Given the description of an element on the screen output the (x, y) to click on. 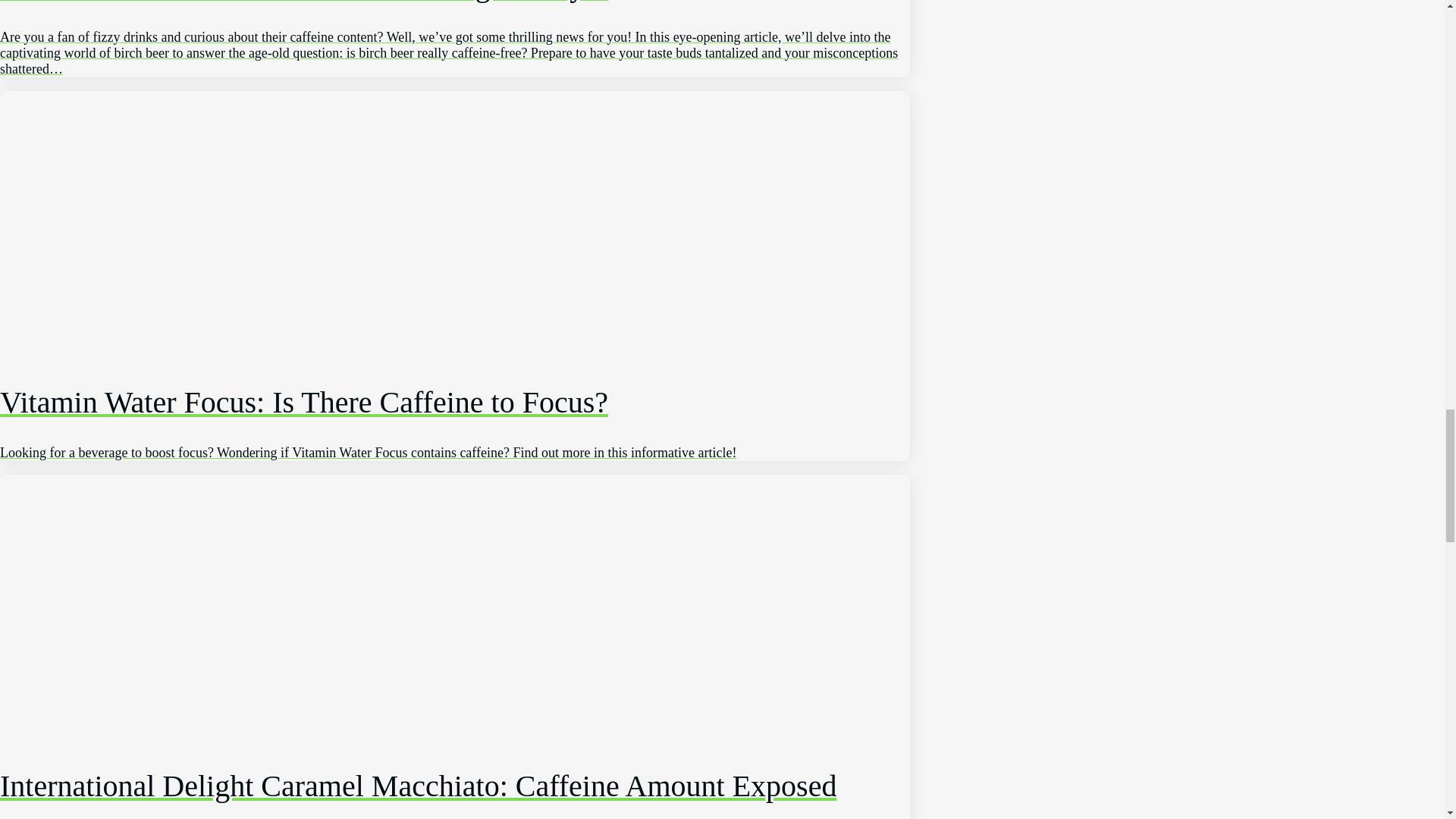
Vitamin Water Focus: Is There Caffeine to Focus? (455, 403)
Is Birch Beer Caffeine Free? Debunking the Myth (455, 38)
